Given the description of an element on the screen output the (x, y) to click on. 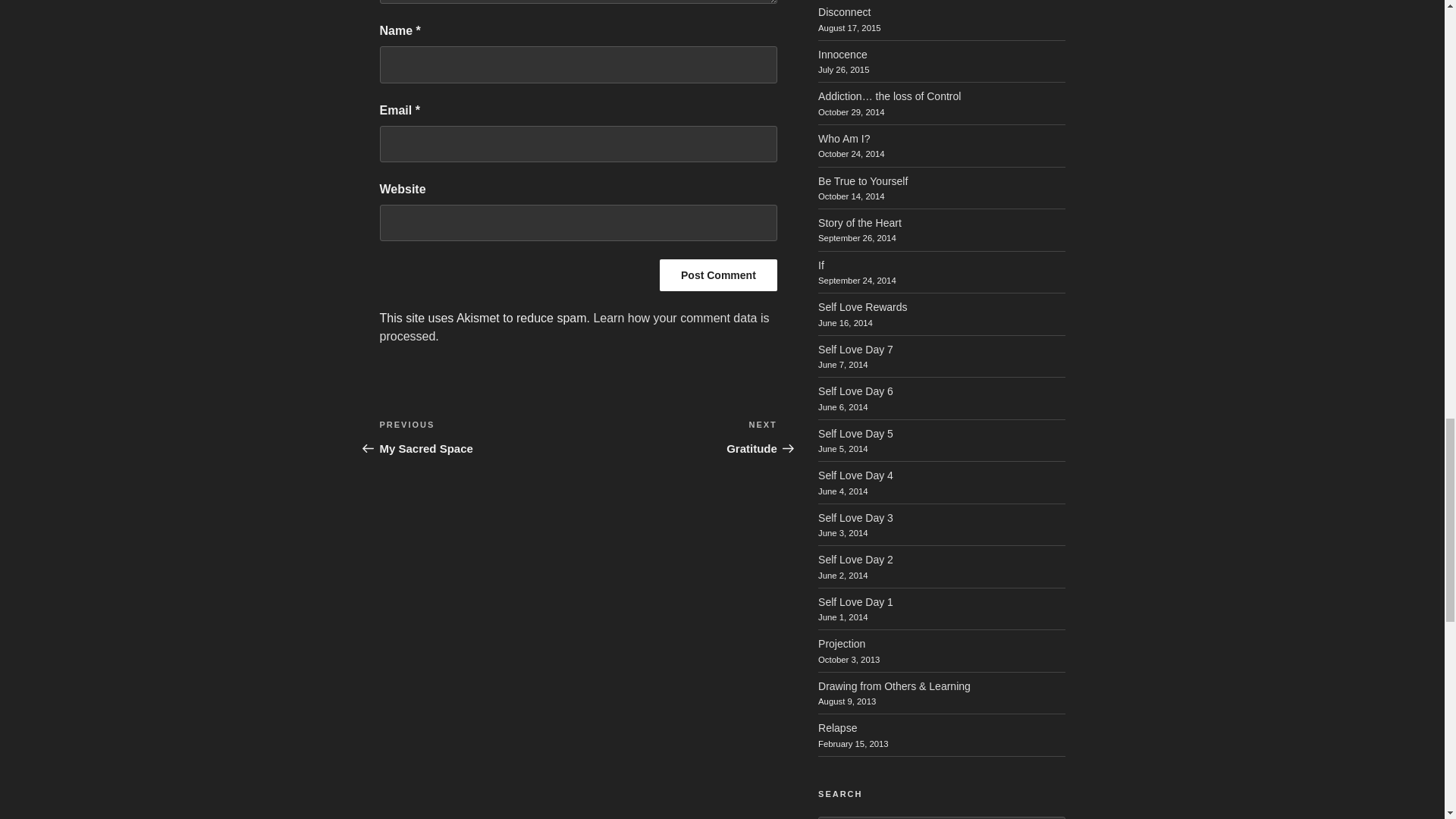
Learn how your comment data is processed (573, 327)
Post Comment (718, 275)
Post Comment (677, 436)
